Given the description of an element on the screen output the (x, y) to click on. 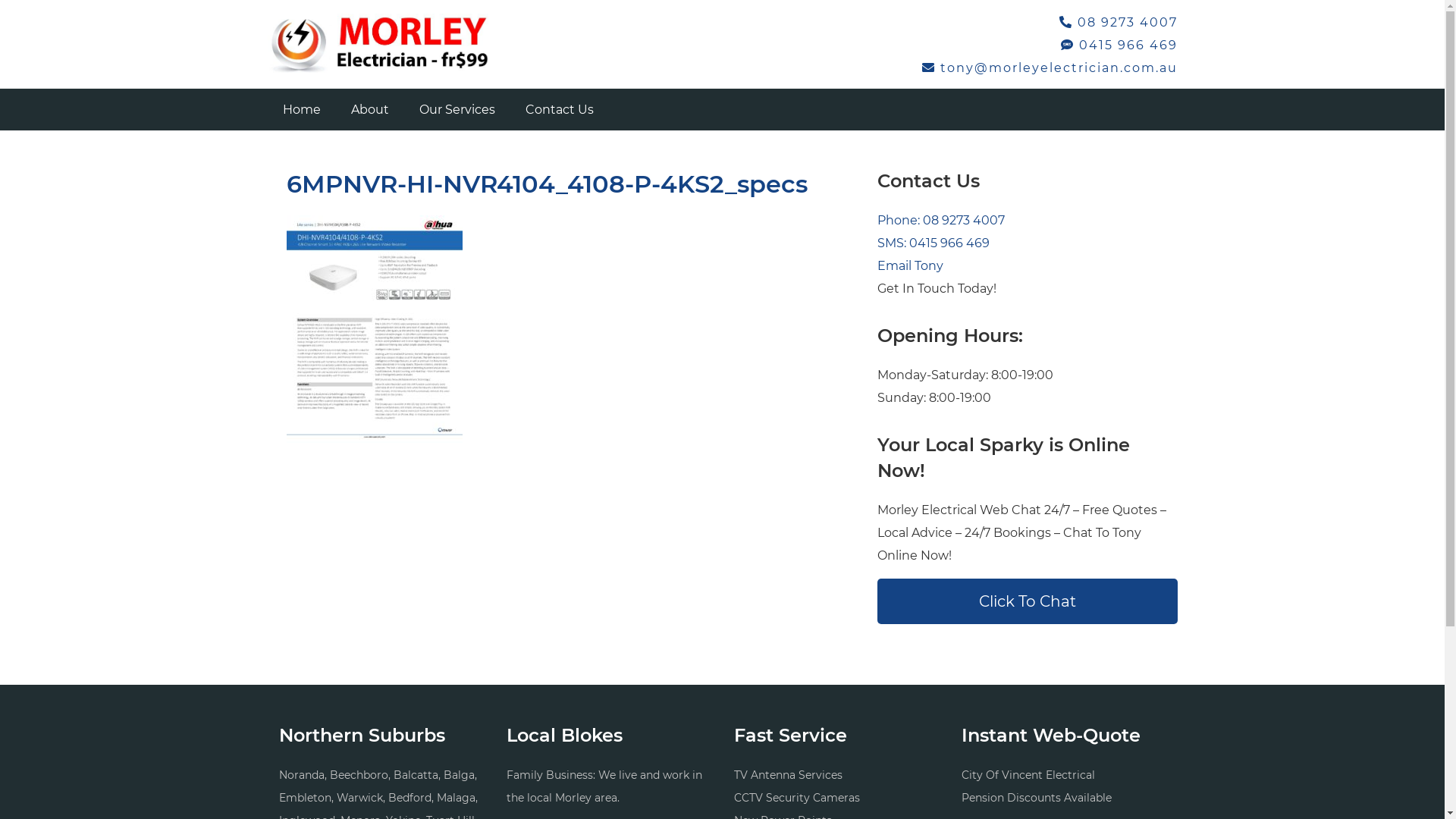
Our Services Element type: text (456, 109)
08 9273 4007 Element type: text (1117, 22)
About Element type: text (369, 109)
Contact Us Element type: text (558, 109)
SMS: 0415 966 469 Element type: text (932, 242)
Phone: 08 9273 4007 Element type: text (940, 220)
CCTV Security Cameras Element type: text (796, 797)
Click To Chat Element type: text (1026, 601)
Email Tony Element type: text (909, 265)
6MPNVR-HI-NVR4104_4108-P-4KS2_specs Element type: text (546, 183)
TV Antenna Services Element type: text (788, 774)
0415 966 469 Element type: text (1118, 44)
tony@morleyelectrician.com.au Element type: text (1049, 67)
Home Element type: text (300, 109)
